Given the description of an element on the screen output the (x, y) to click on. 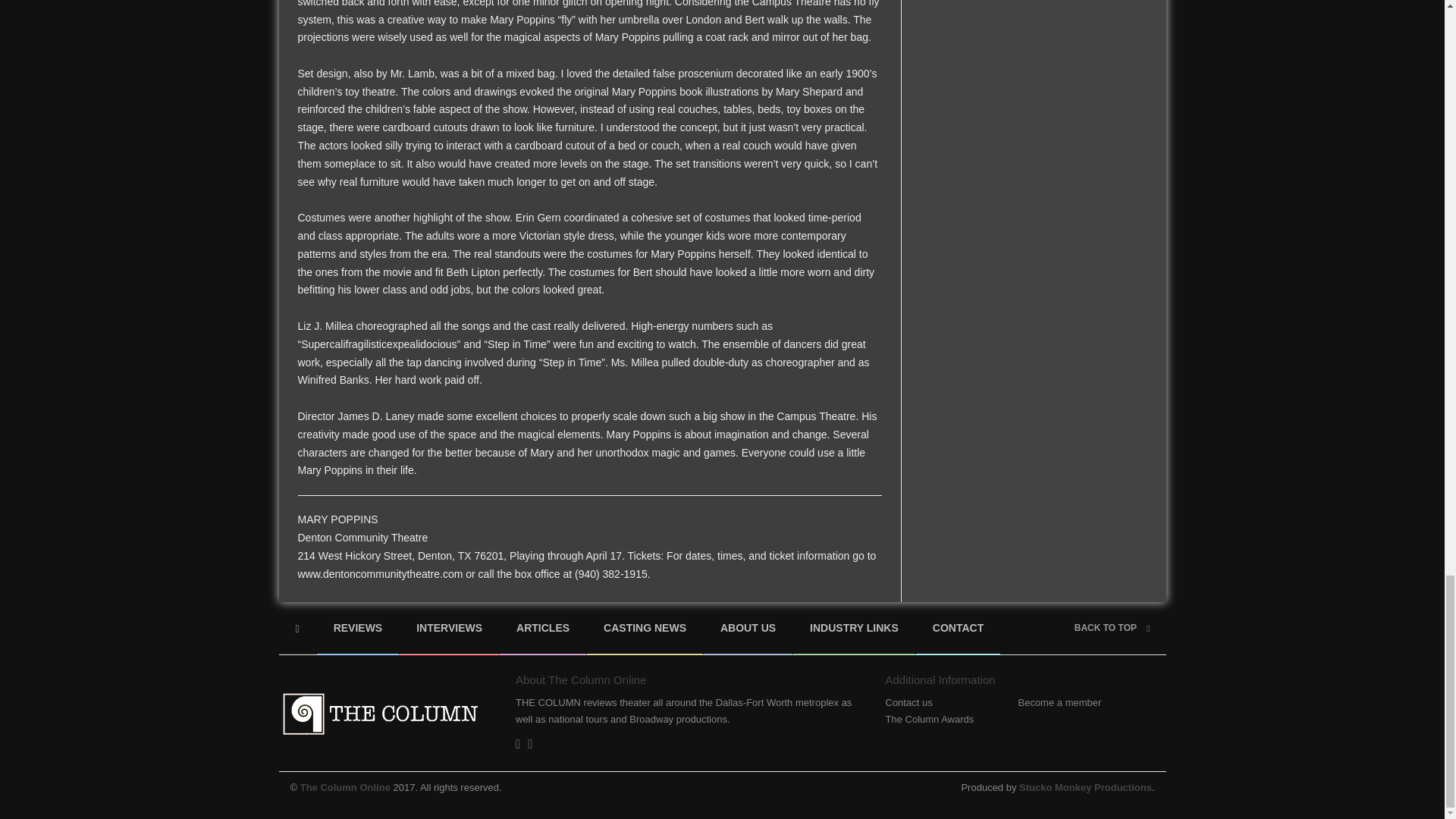
ABOUT US (747, 627)
REVIEWS (357, 627)
BACK TO TOP (1112, 627)
INTERVIEWS (448, 627)
ARTICLES (542, 627)
BACK TO TOP (1112, 627)
CONTACT (957, 627)
CASTING NEWS (644, 627)
INDUSTRY LINKS (854, 627)
